Given the description of an element on the screen output the (x, y) to click on. 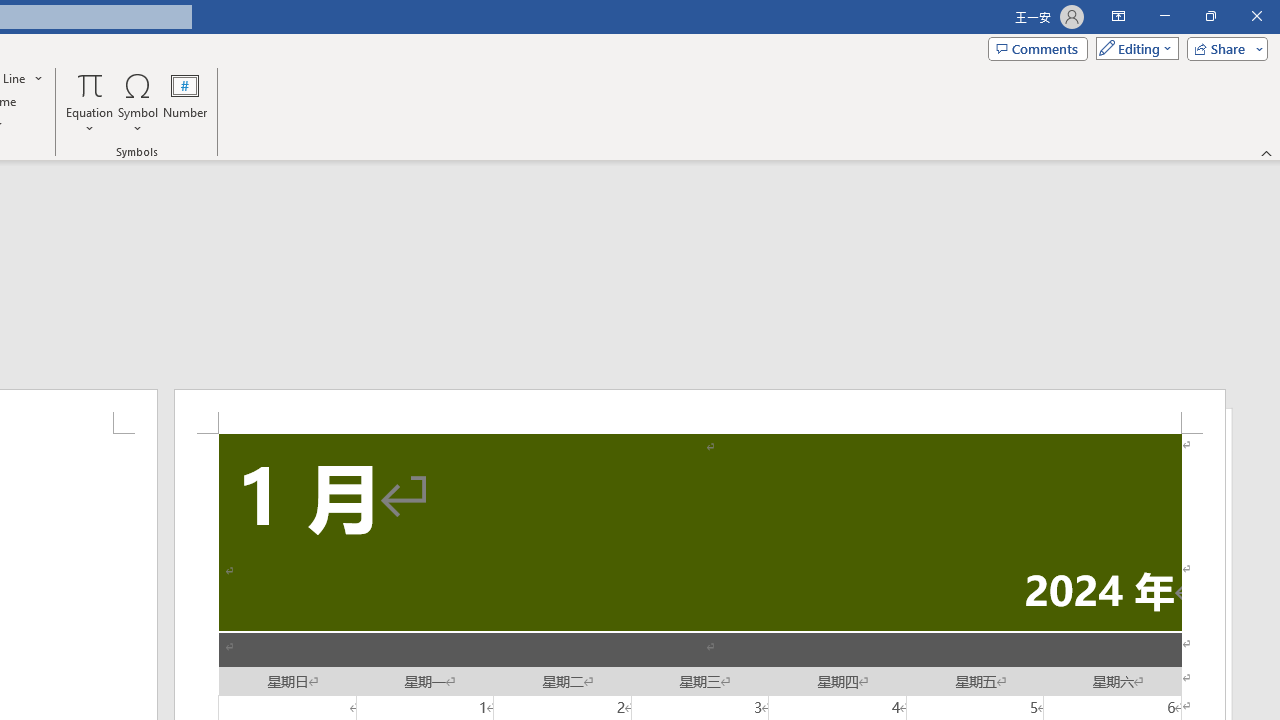
Number... (185, 102)
Equation (90, 102)
Symbol (138, 102)
Equation (90, 84)
